Given the description of an element on the screen output the (x, y) to click on. 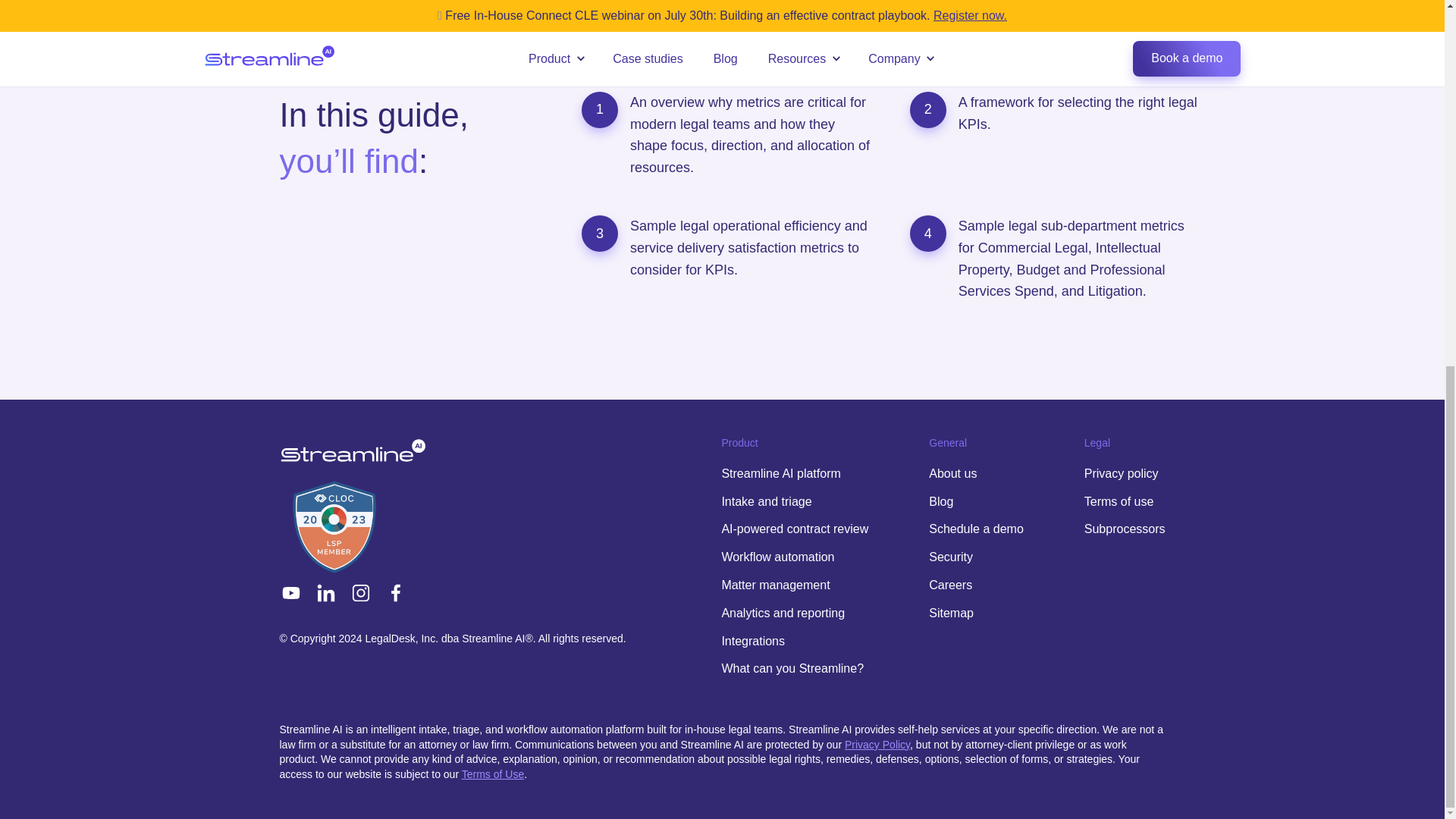
Streamline AI platform (780, 472)
